Given the description of an element on the screen output the (x, y) to click on. 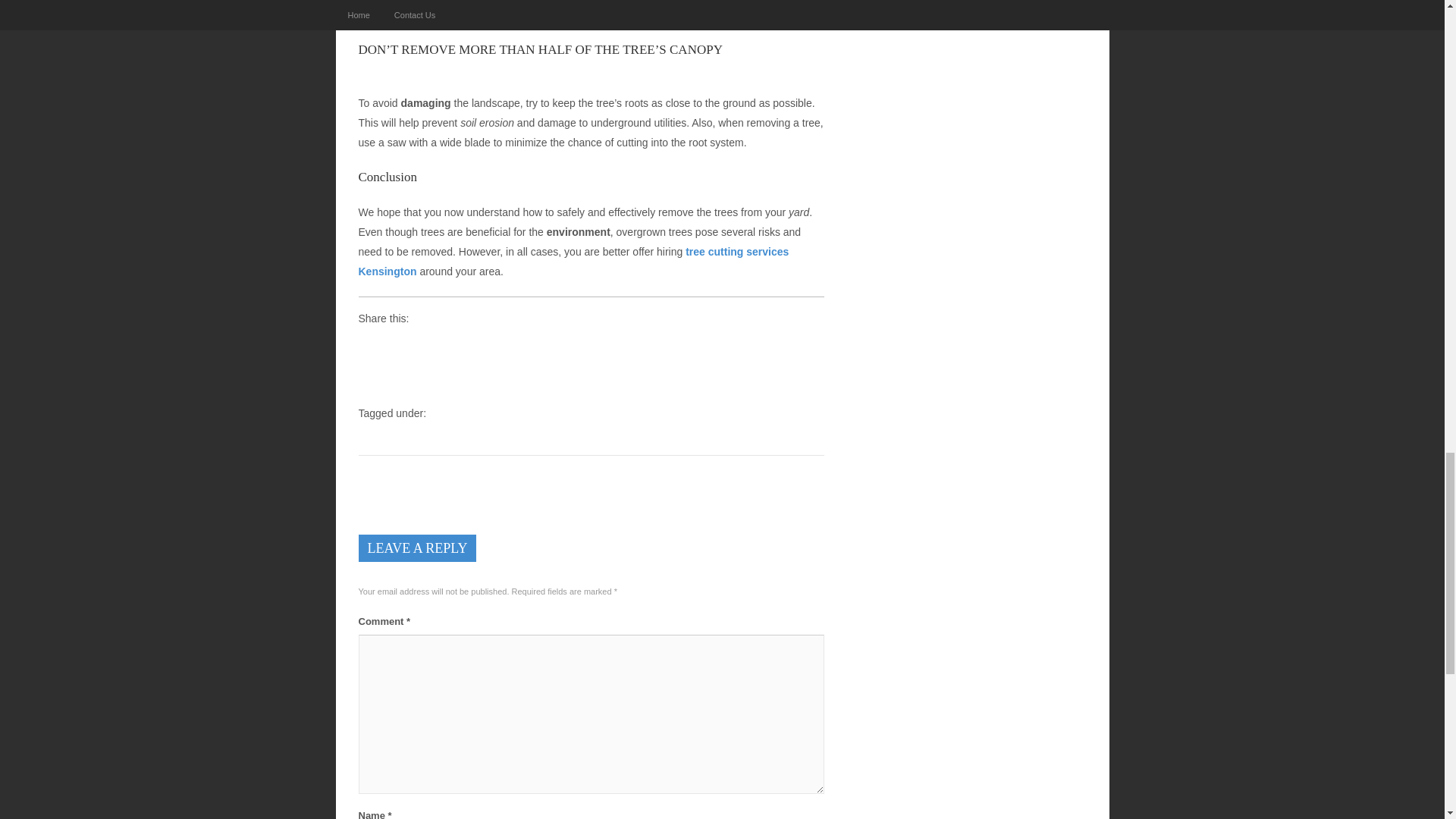
Click to share on Twitter (398, 347)
tree cutting services Kensington (573, 261)
Click to share on Google (426, 347)
Click to share on Facebook (369, 347)
Click to share on LinkedIn (456, 347)
Click to share on Pinterest (485, 347)
Click to share by Email (513, 347)
